Given the description of an element on the screen output the (x, y) to click on. 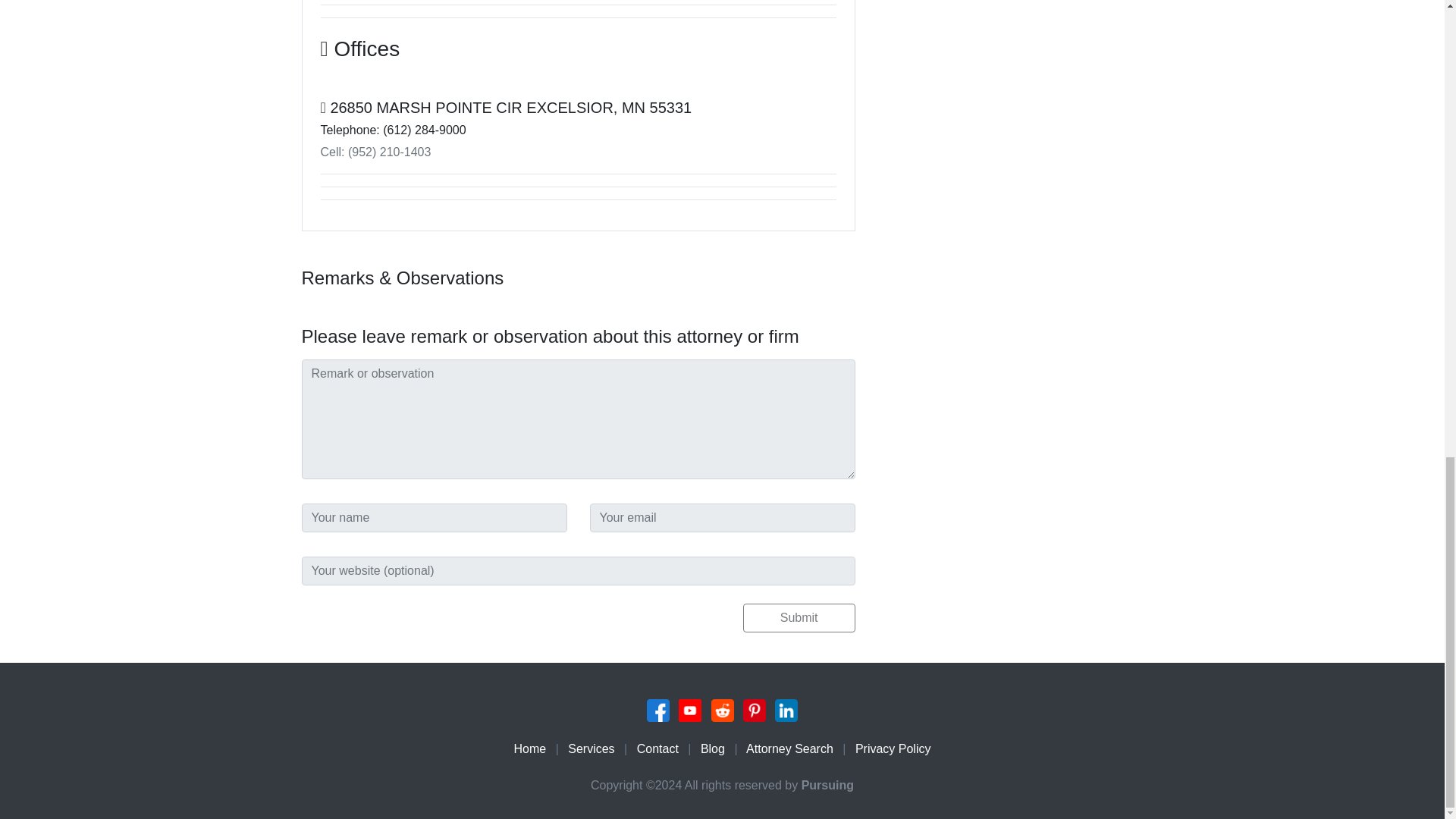
Blog (712, 748)
Privacy Policy (893, 748)
Services (590, 748)
Contact (657, 748)
Submit (799, 617)
Home (530, 748)
Submit (799, 617)
Attorney Search (788, 748)
